Given the description of an element on the screen output the (x, y) to click on. 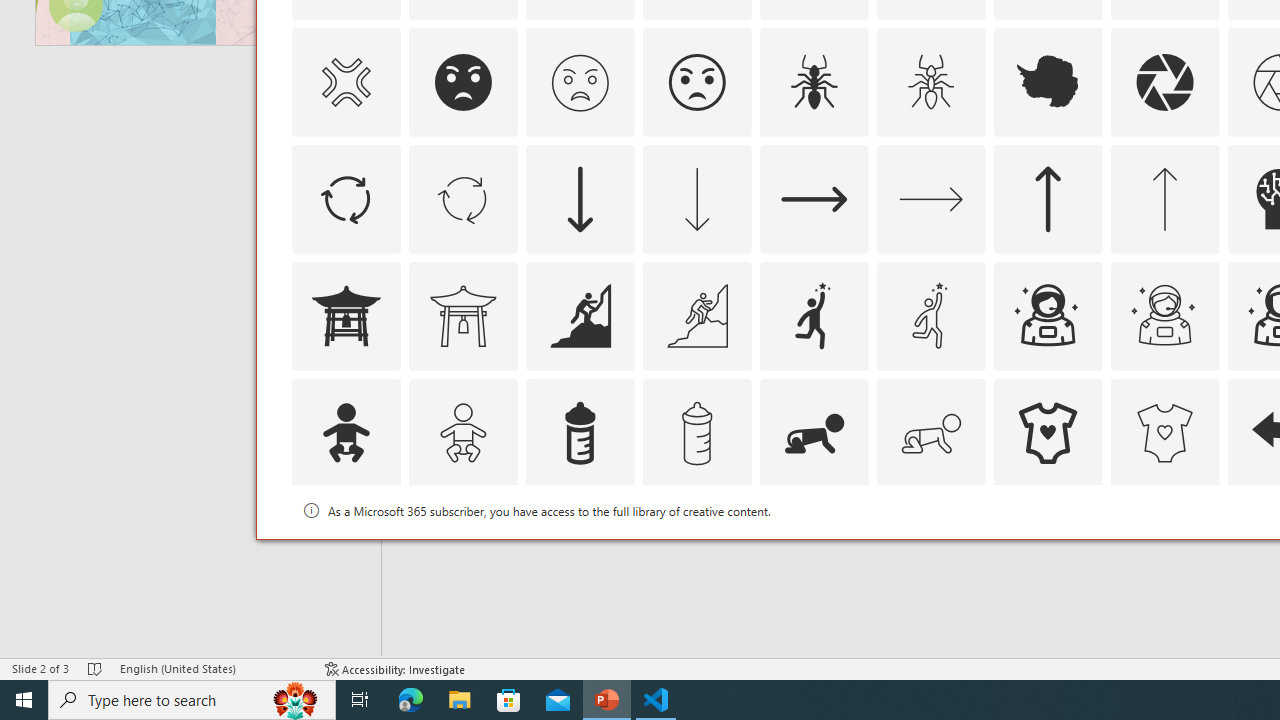
AutomationID: Icons_Badge3 (696, 550)
AutomationID: Icons_AngerSymbol_M (345, 82)
AutomationID: Icons_AsianTemple1 (345, 316)
AutomationID: Icons_AngryFace_Outline (696, 82)
AutomationID: Icons_Baby_M (463, 432)
AutomationID: Icons_BabyBottle (579, 432)
AutomationID: Icons_ArrowCircle_M (463, 198)
AutomationID: Icons_BabyOnesie (1048, 432)
AutomationID: Icons_AngryFace (463, 82)
